Given the description of an element on the screen output the (x, y) to click on. 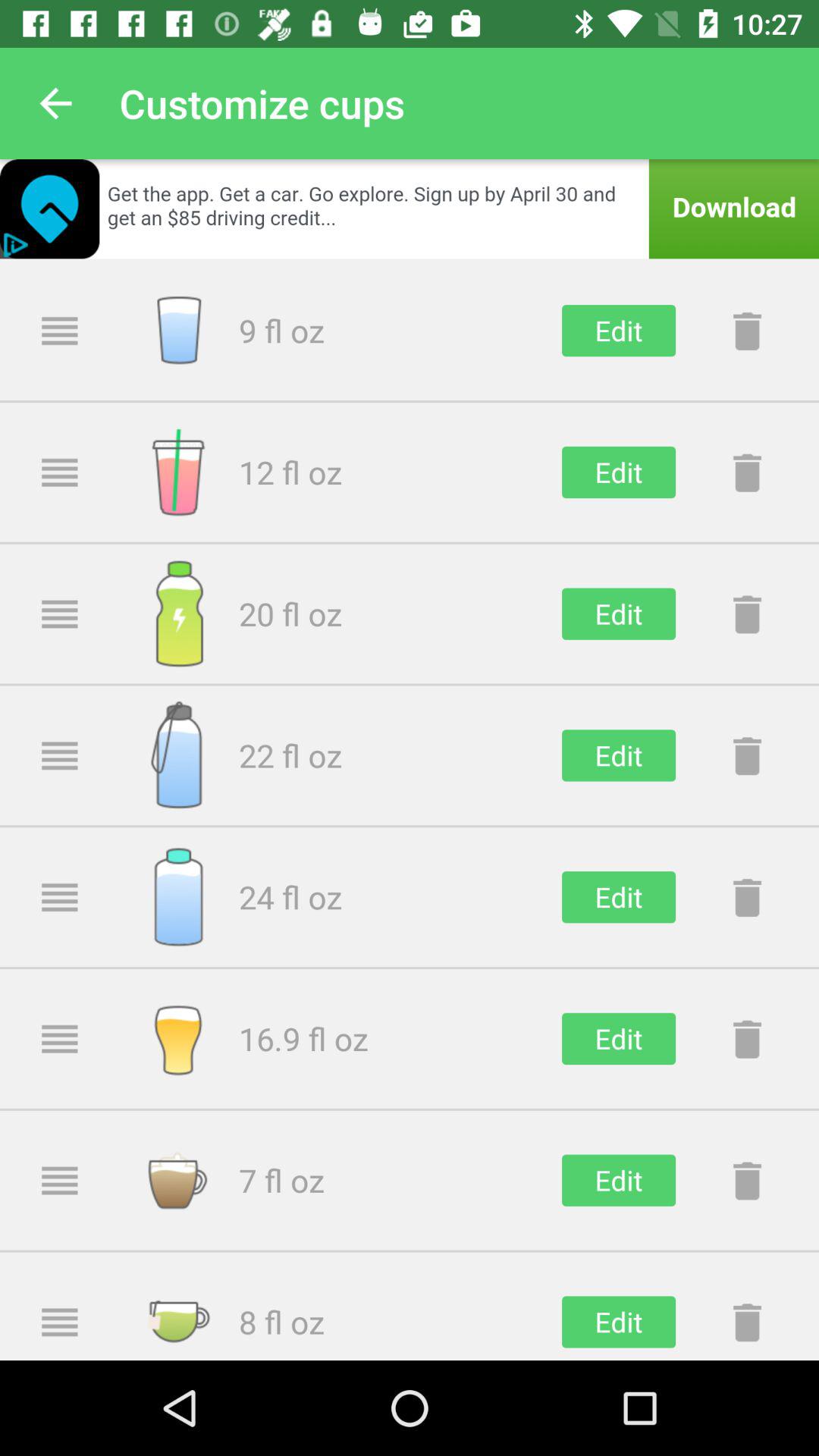
advertisement page (409, 208)
